Given the description of an element on the screen output the (x, y) to click on. 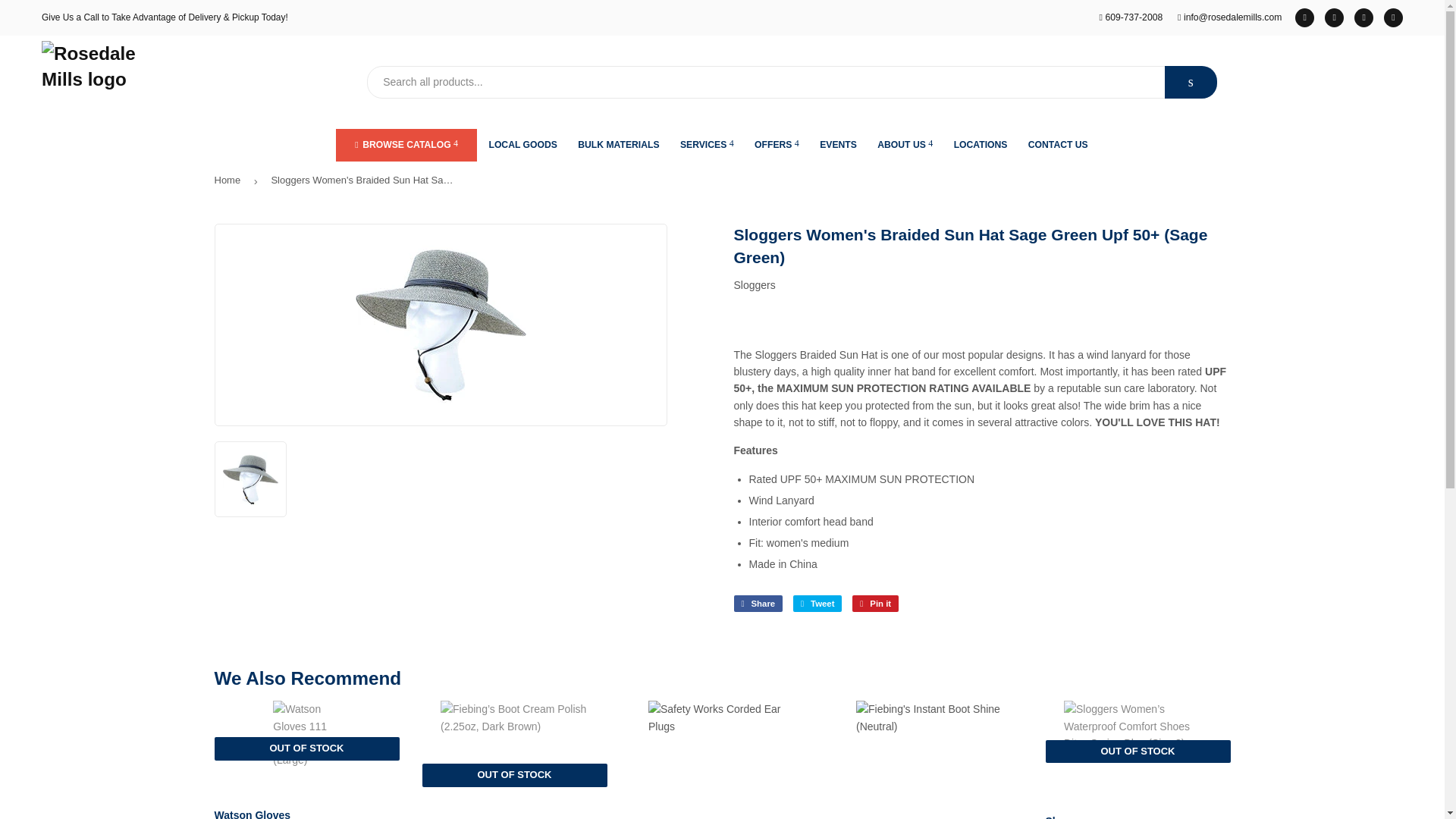
Share on Facebook (758, 603)
YouTube (1393, 17)
Facebook (1304, 17)
Tweet on Twitter (817, 603)
Open Product Zoom (441, 324)
Search (1190, 82)
Pin on Pinterest (874, 603)
Pinterest (1333, 17)
Instagram (1363, 17)
 609-737-2008 (1131, 17)
